Given the description of an element on the screen output the (x, y) to click on. 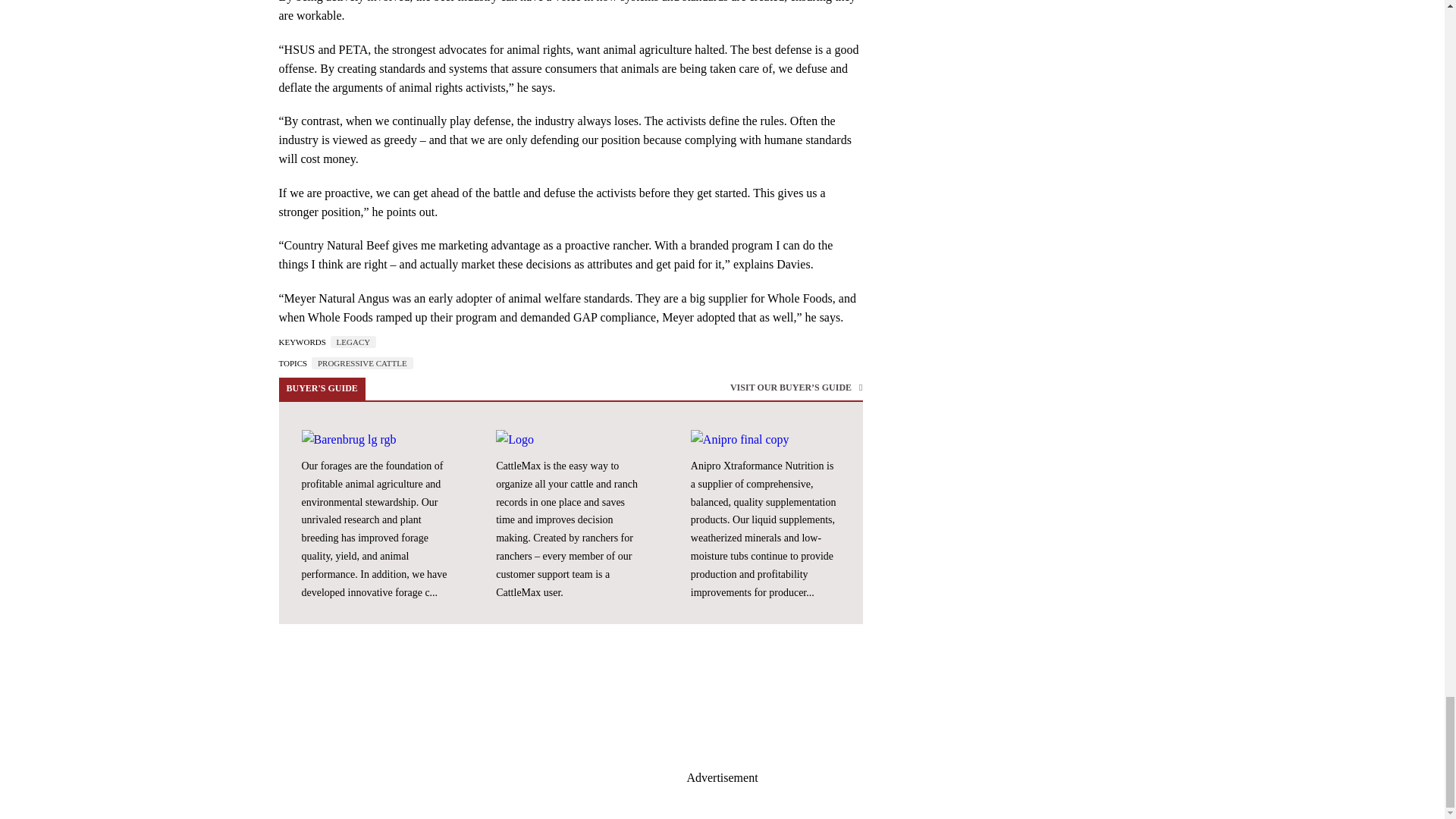
LEGACY (353, 341)
PROGRESSIVE CATTLE (362, 363)
